Given the description of an element on the screen output the (x, y) to click on. 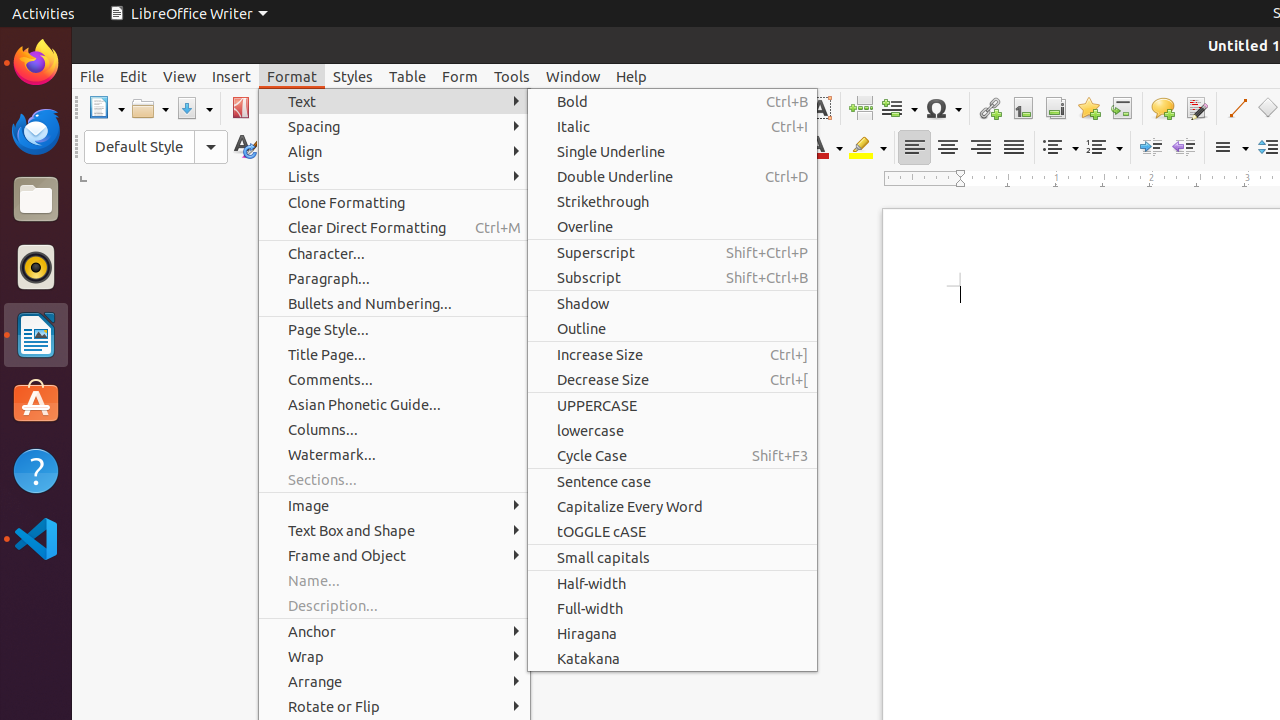
Ubuntu Software Element type: push-button (36, 402)
Footnote Element type: push-button (1022, 108)
LibreOffice Writer Element type: menu (188, 13)
LibreOffice Writer Element type: push-button (36, 334)
Full-width Element type: menu-item (672, 608)
